Given the description of an element on the screen output the (x, y) to click on. 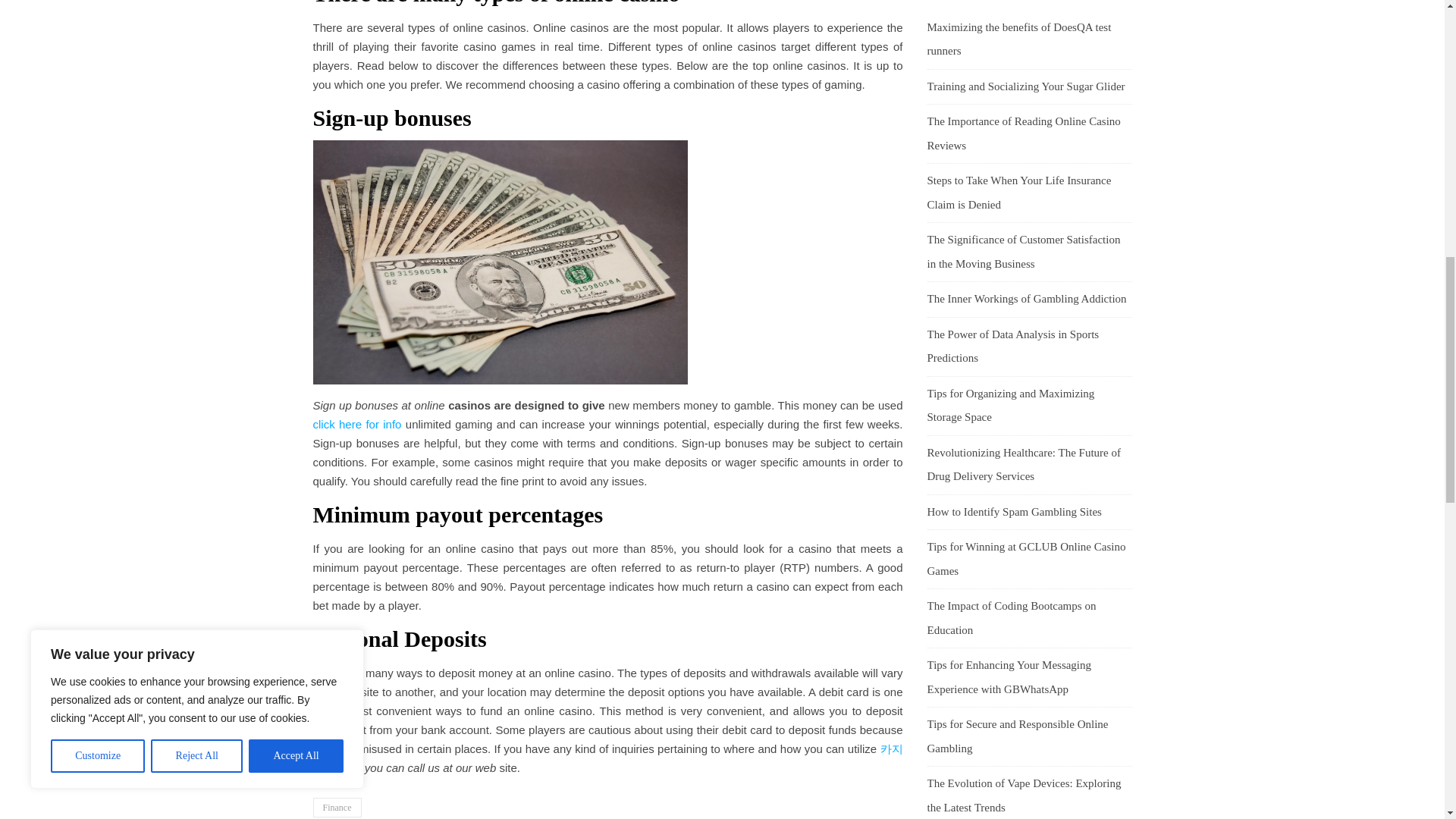
Finance (337, 807)
click here for info (357, 423)
